Given the description of an element on the screen output the (x, y) to click on. 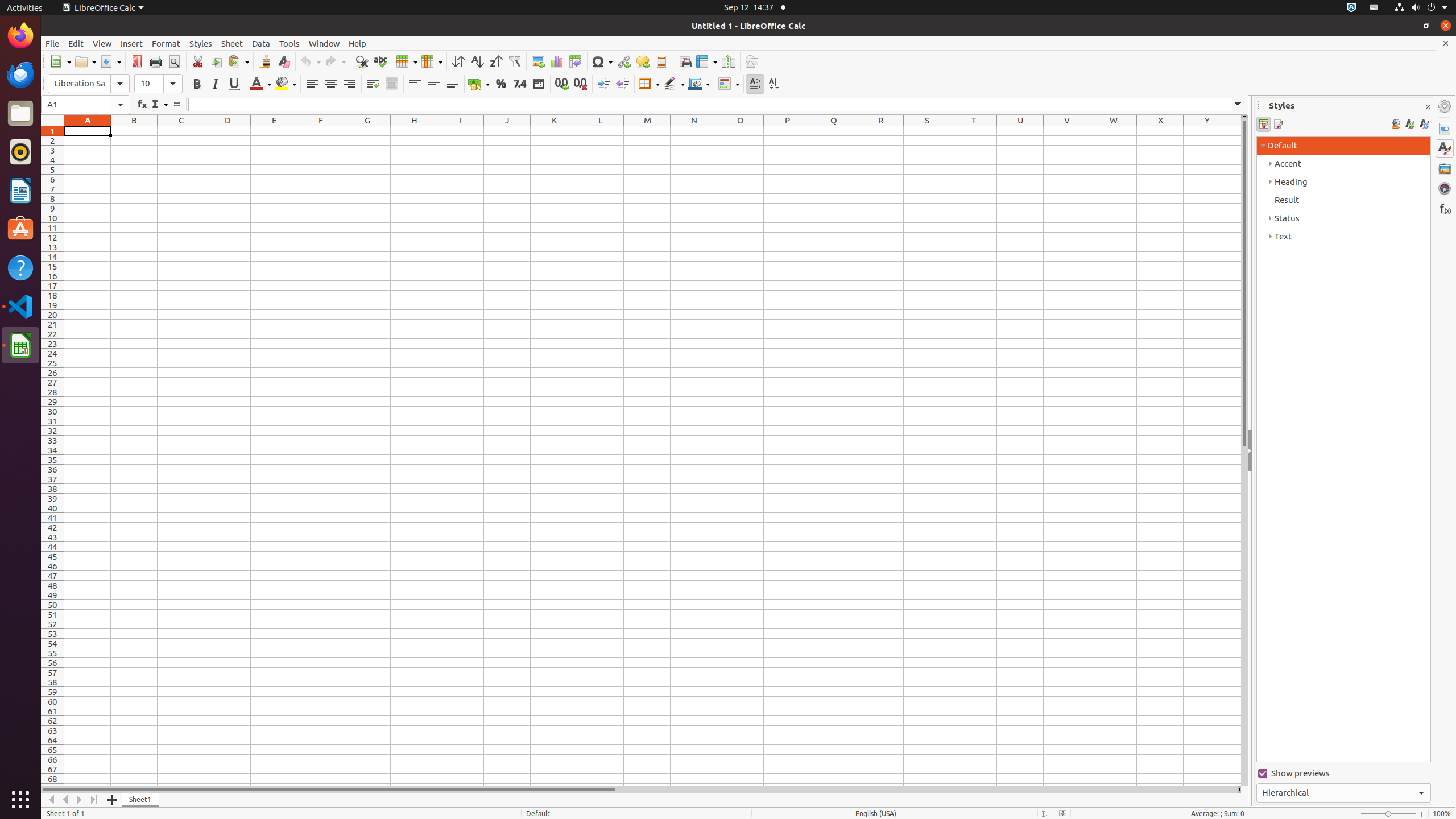
F1 Element type: table-cell (320, 130)
Pivot Table Element type: push-button (574, 61)
Border Style Element type: push-button (673, 83)
Q1 Element type: table-cell (833, 130)
Clear Element type: push-button (283, 61)
